Given the description of an element on the screen output the (x, y) to click on. 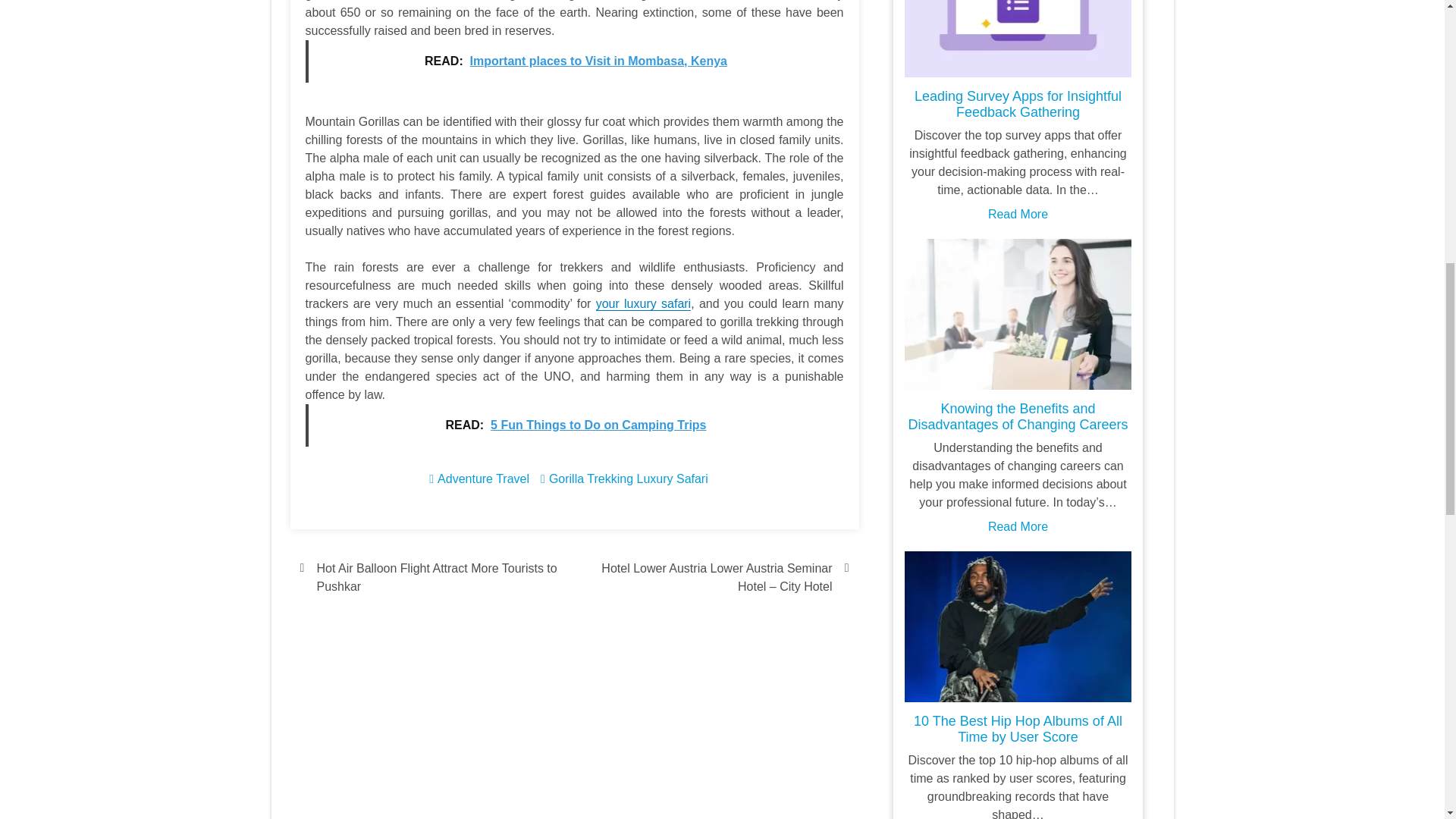
Read More (1018, 526)
Hot Air Balloon Flight Attract More Tourists to Pushkar (432, 577)
10 The Best Hip Hop Albums of All Time by User Score (1018, 728)
Read More (1018, 214)
Knowing the Benefits and Disadvantages of Changing Careers (1016, 416)
your luxury safari (643, 304)
Luxury Safari (671, 478)
Leading Survey Apps for Insightful Feedback Gathering (1017, 103)
Adventure Travel (483, 478)
READ:  Important places to Visit in Mombasa, Kenya (573, 61)
